Given the description of an element on the screen output the (x, y) to click on. 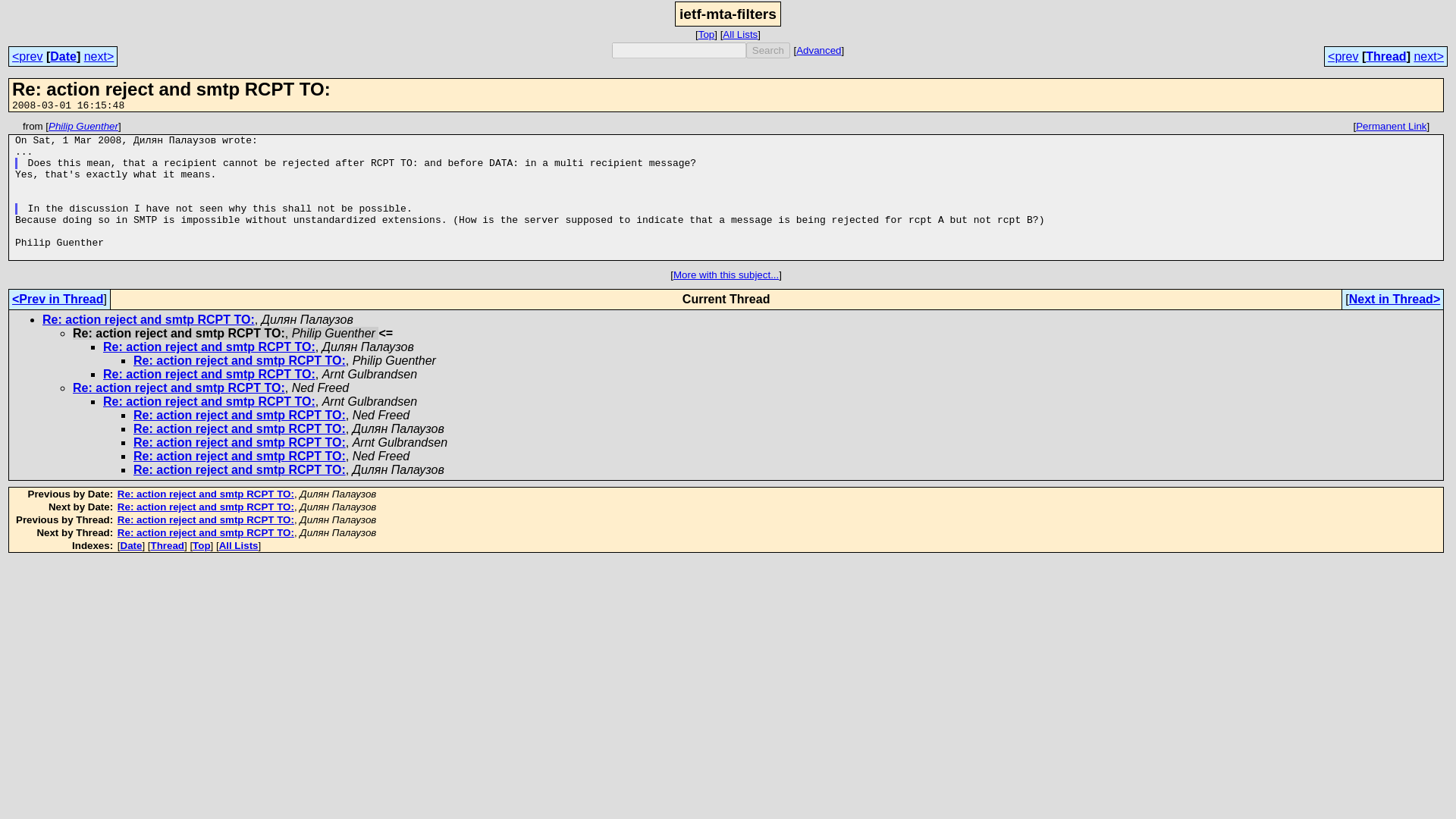
Thread (1385, 56)
Date (63, 56)
Advanced (818, 50)
Search (767, 50)
Date (131, 545)
All Lists (239, 545)
Re: action reject and smtp RCPT TO: (205, 519)
Re: action reject and smtp RCPT TO: (239, 469)
Re: action reject and smtp RCPT TO: (205, 532)
Top (706, 34)
Re: action reject and smtp RCPT TO: (209, 346)
Re: action reject and smtp RCPT TO: (239, 414)
More with this subject... (725, 274)
Permanent Link (1390, 125)
Re: action reject and smtp RCPT TO: (239, 455)
